Given the description of an element on the screen output the (x, y) to click on. 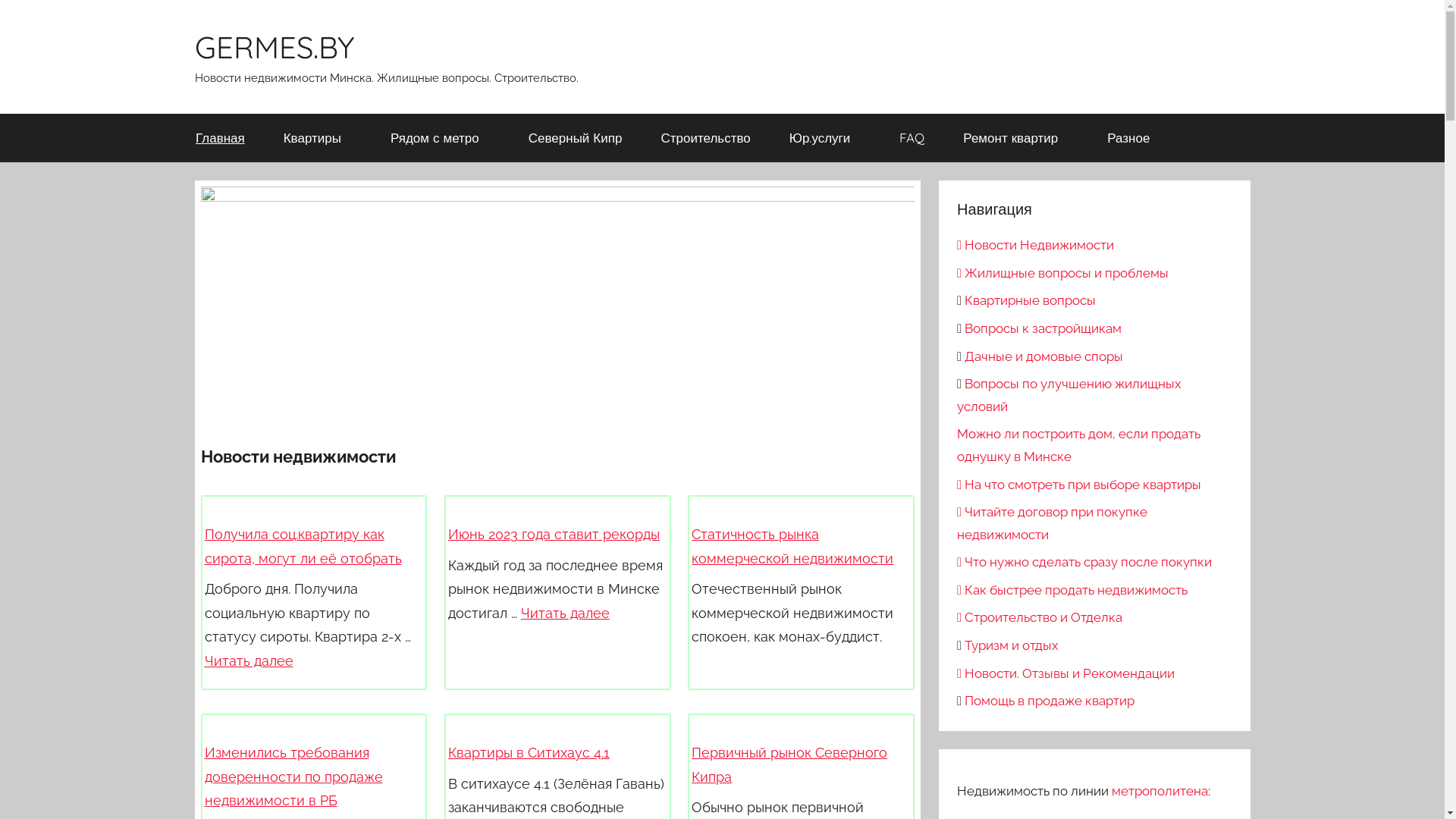
FAQ Element type: text (912, 137)
GERMES.BY Element type: text (273, 46)
